Given the description of an element on the screen output the (x, y) to click on. 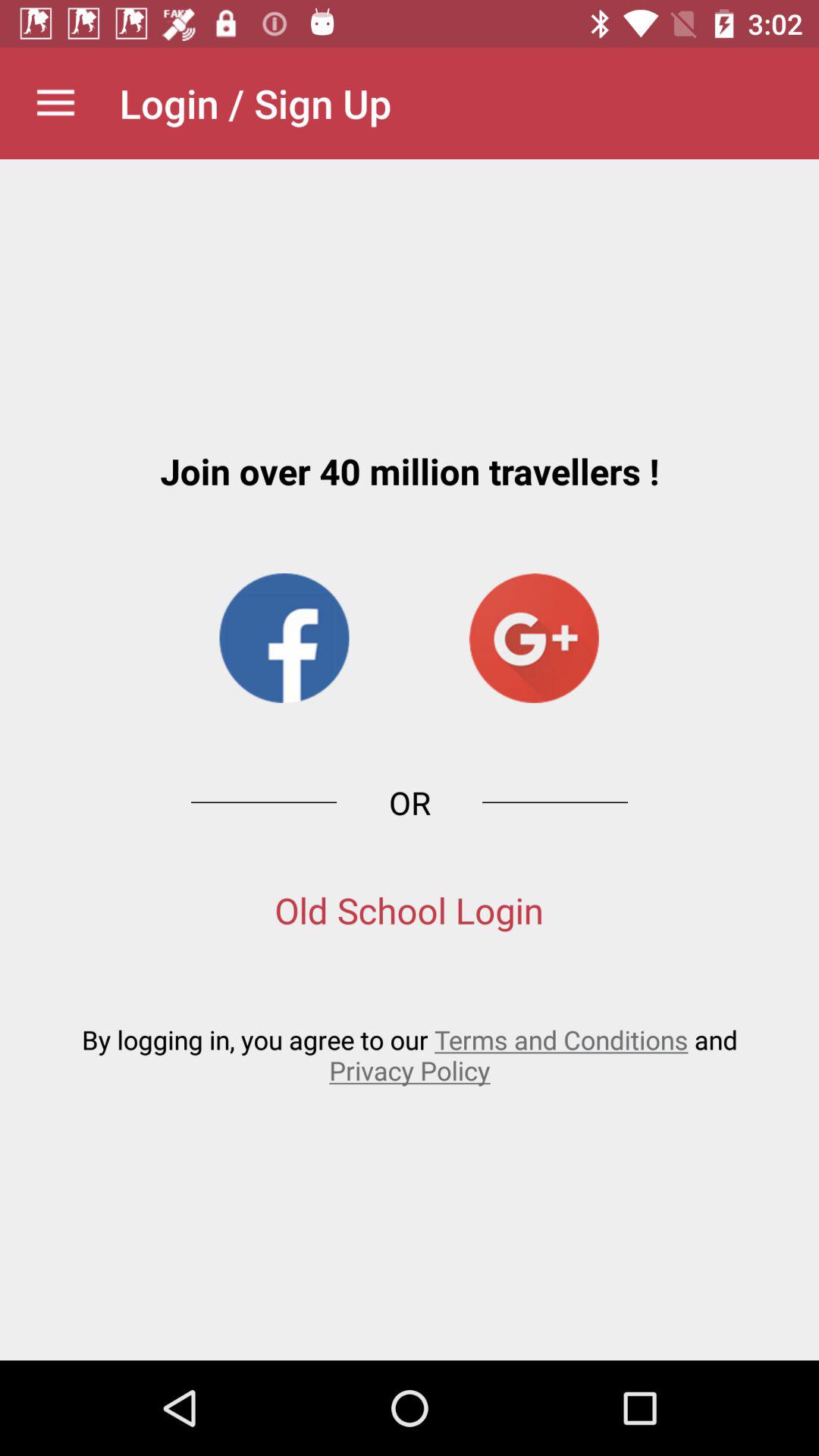
jump until the old school login (409, 910)
